Given the description of an element on the screen output the (x, y) to click on. 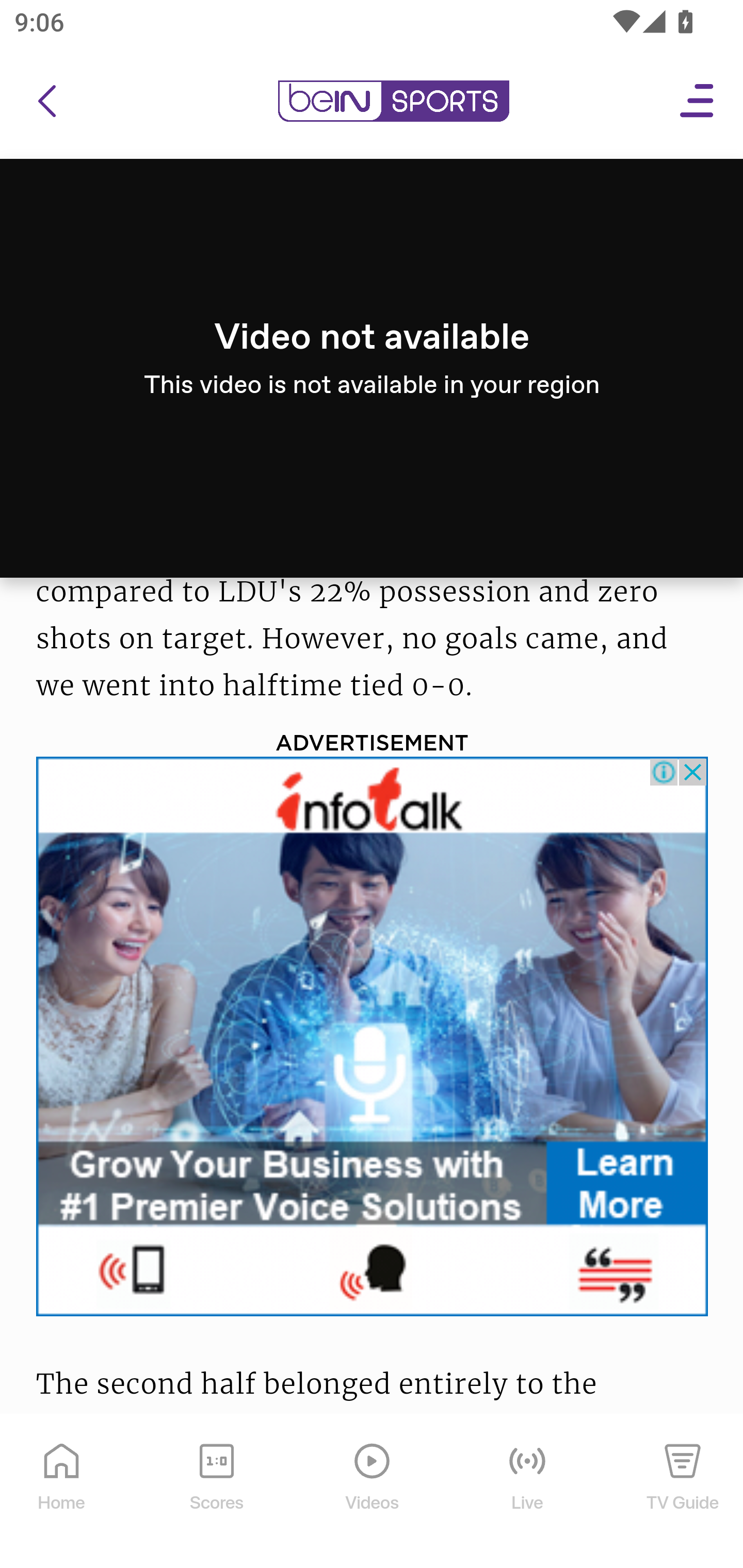
en-us?platform=mobile_android bein logo (392, 101)
icon back (46, 101)
Open Menu Icon (697, 101)
Home Home Icon Home (61, 1493)
Scores Scores Icon Scores (216, 1493)
Videos Videos Icon Videos (372, 1493)
TV Guide TV Guide Icon TV Guide (682, 1493)
